Given the description of an element on the screen output the (x, y) to click on. 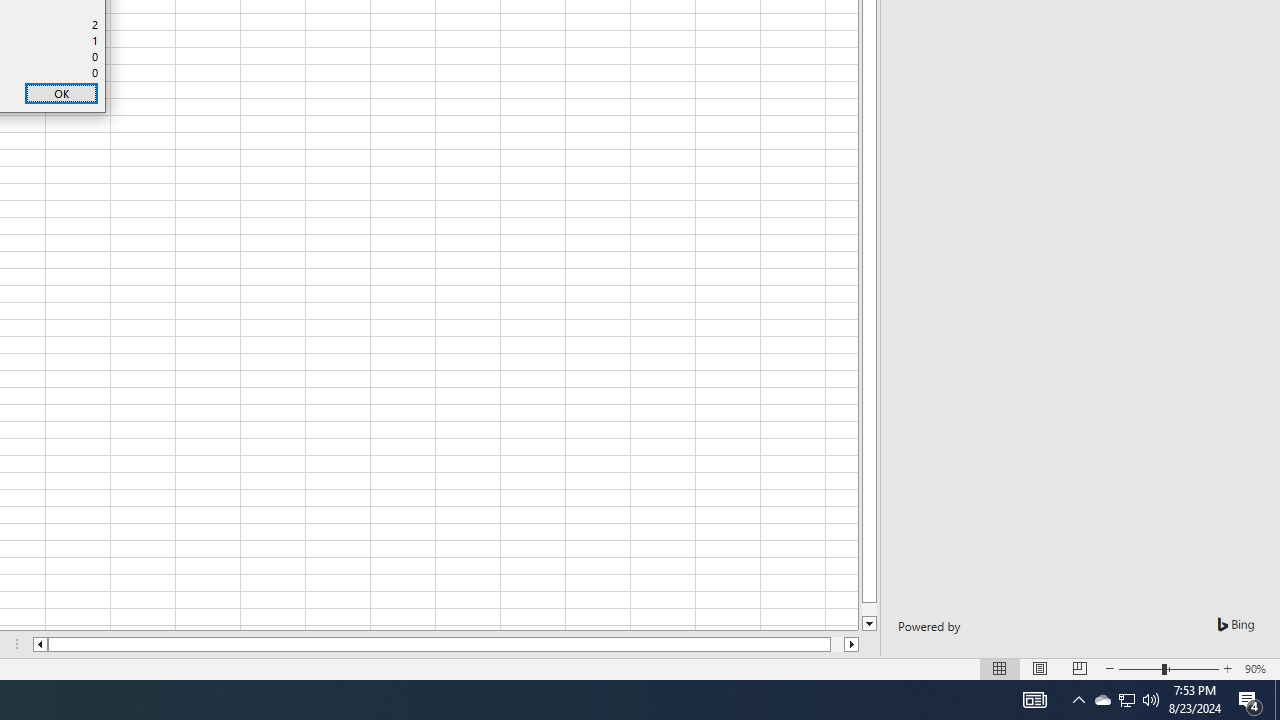
Notification Chevron (1078, 699)
Action Center, 4 new notifications (1126, 699)
Q2790: 100% (1102, 699)
